Given the description of an element on the screen output the (x, y) to click on. 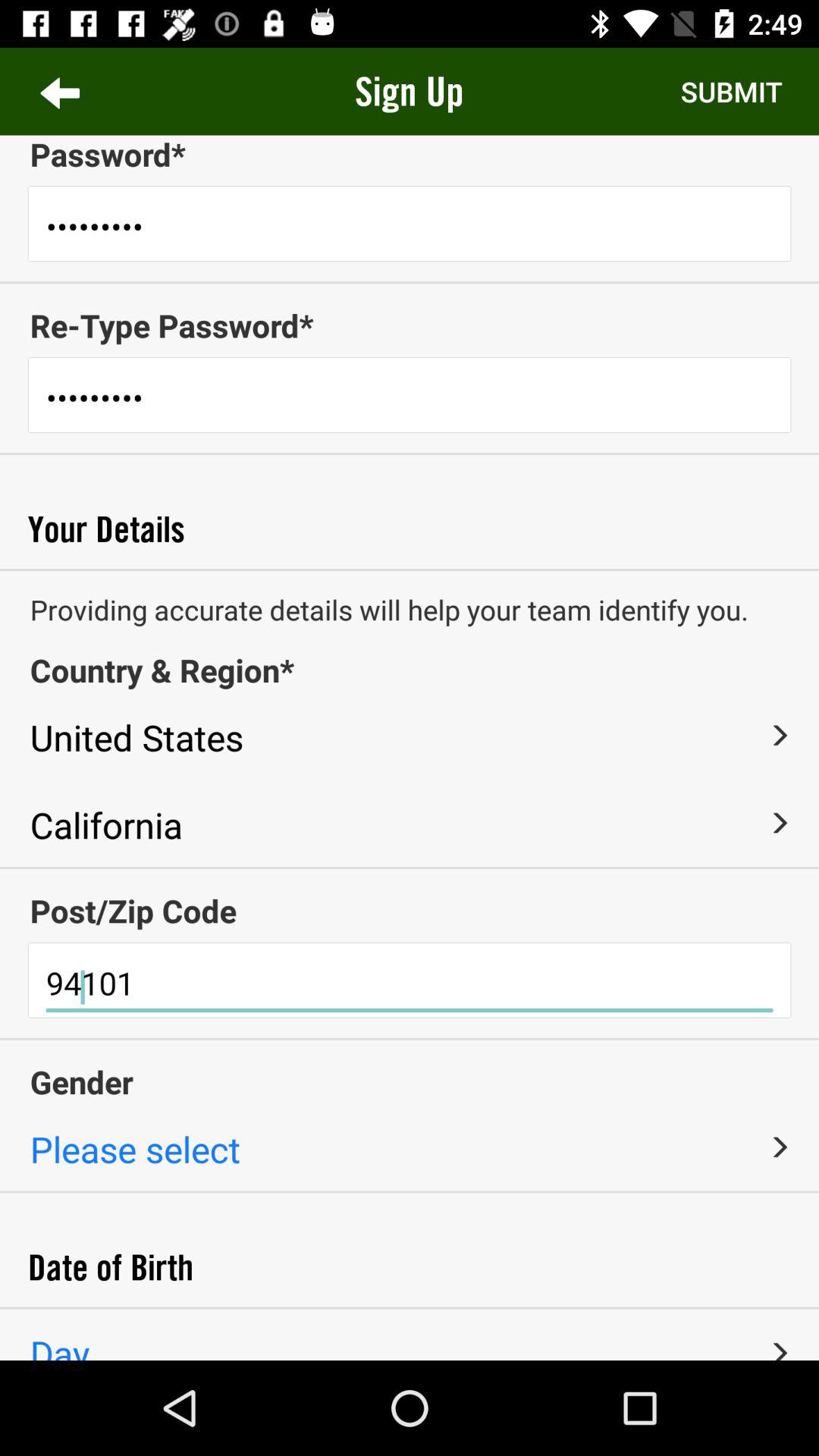
select the icon above the providing accurate details (409, 569)
